Given the description of an element on the screen output the (x, y) to click on. 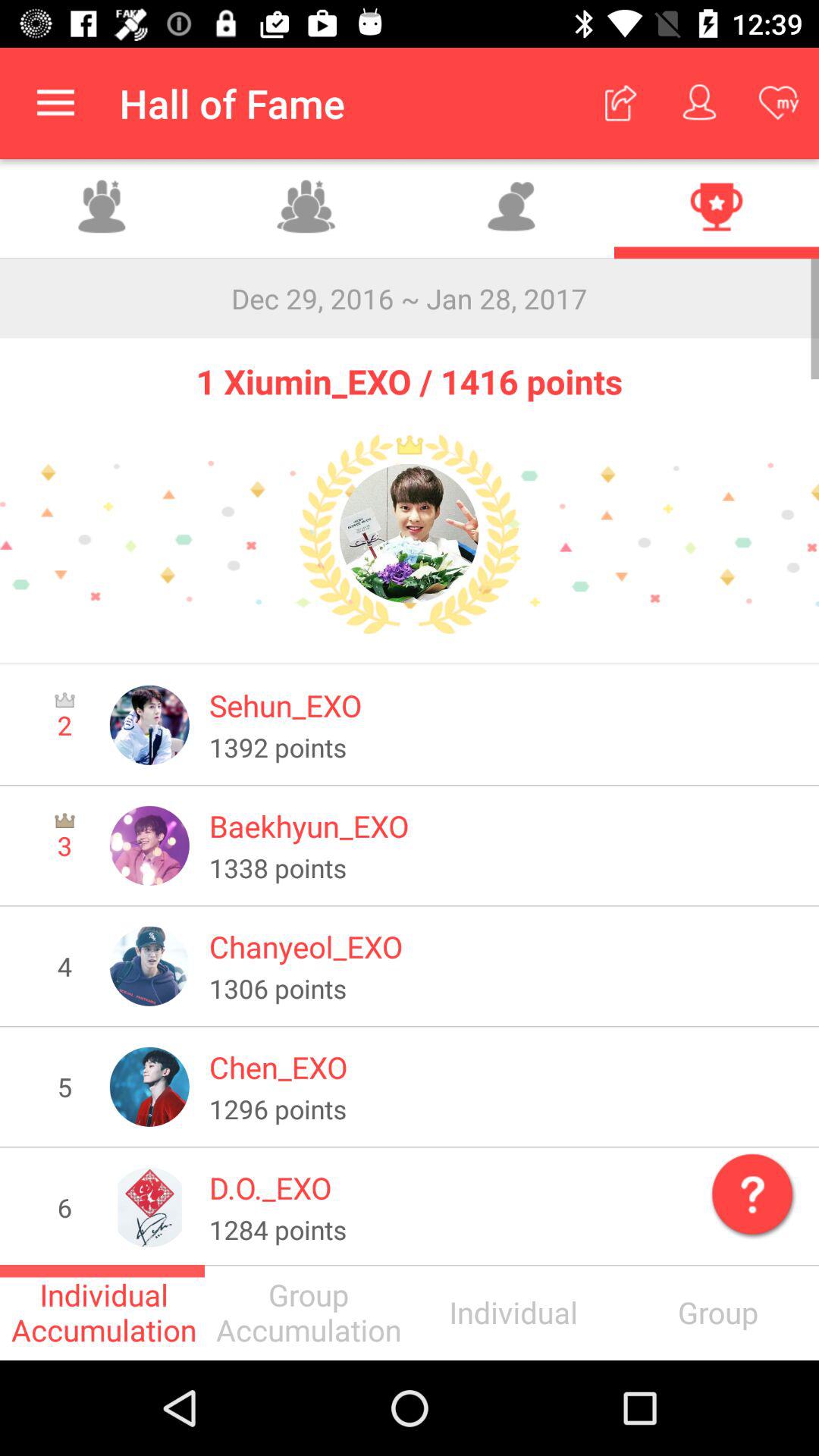
check winners (716, 208)
